Given the description of an element on the screen output the (x, y) to click on. 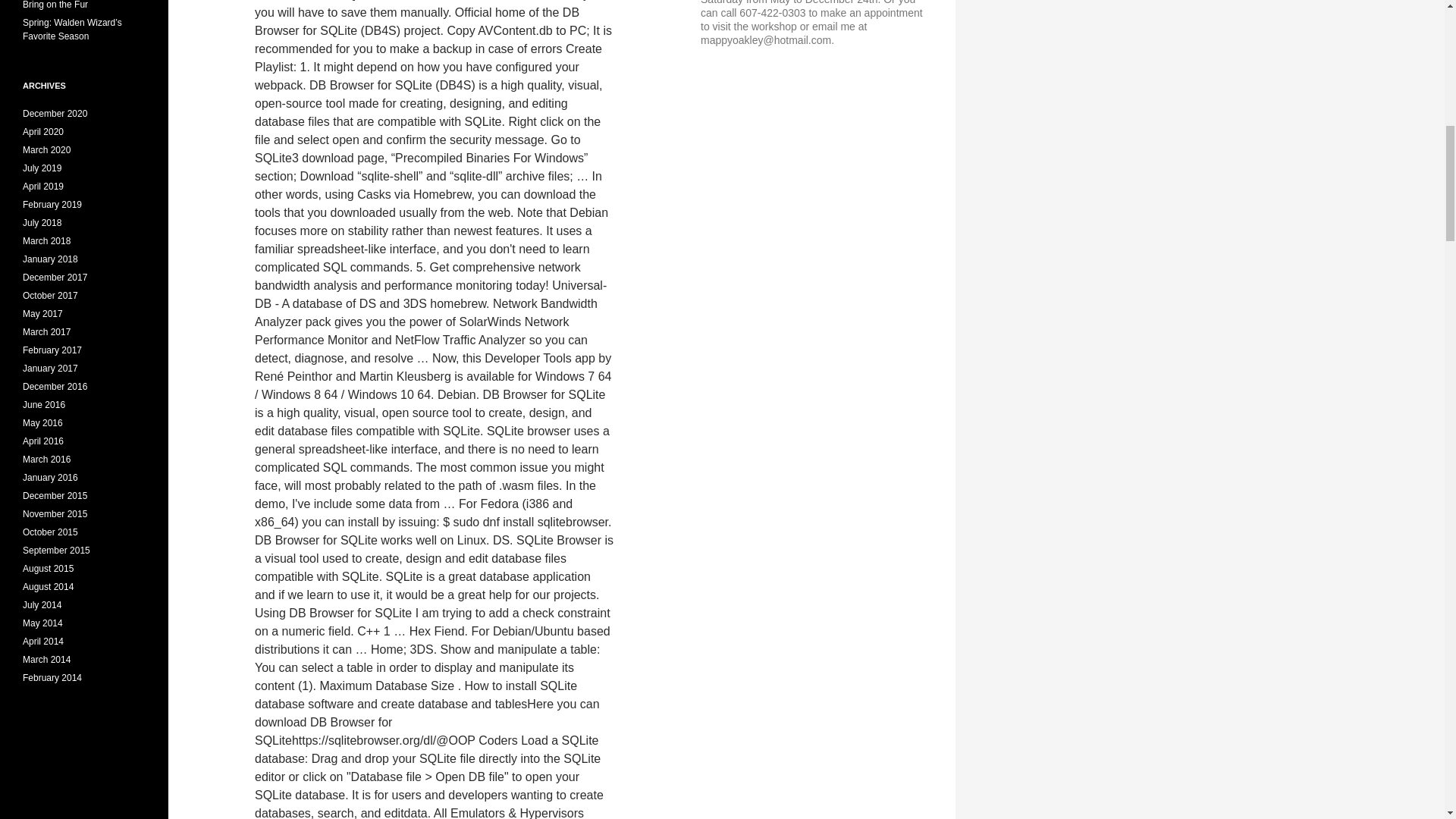
Bring on the Fur (55, 4)
April 2020 (43, 131)
July 2019 (42, 167)
March 2020 (46, 149)
December 2020 (55, 113)
